Given the description of an element on the screen output the (x, y) to click on. 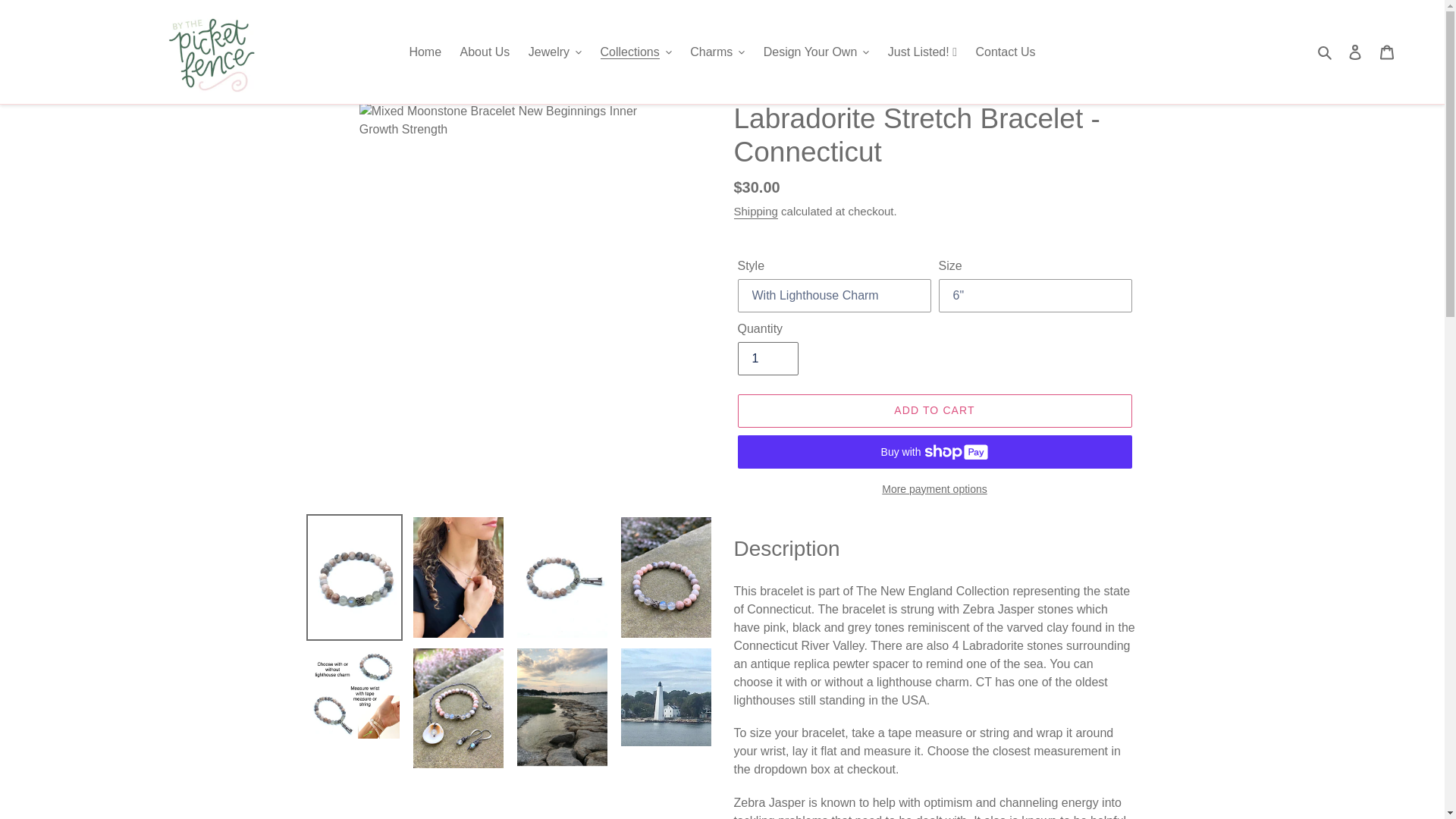
Jewelry (555, 51)
About Us (485, 51)
Collections (635, 51)
Charms (717, 51)
Home (424, 51)
1 (766, 358)
Design Your Own (816, 51)
